Given the description of an element on the screen output the (x, y) to click on. 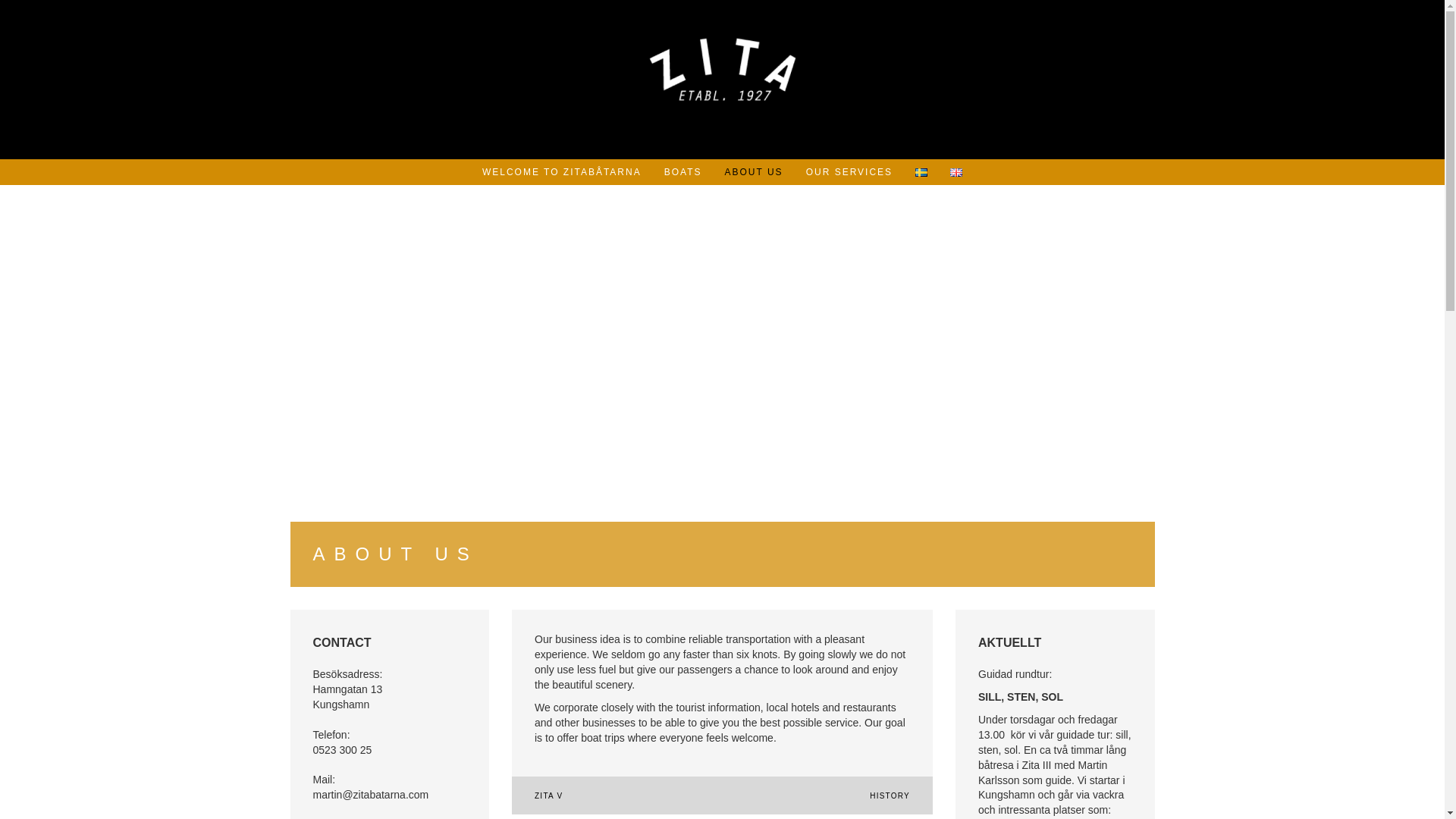
BOATS (682, 171)
Page 1 (1055, 743)
Svenska (921, 172)
ABOUT US (754, 171)
OUR SERVICES (849, 171)
English (956, 172)
